Given the description of an element on the screen output the (x, y) to click on. 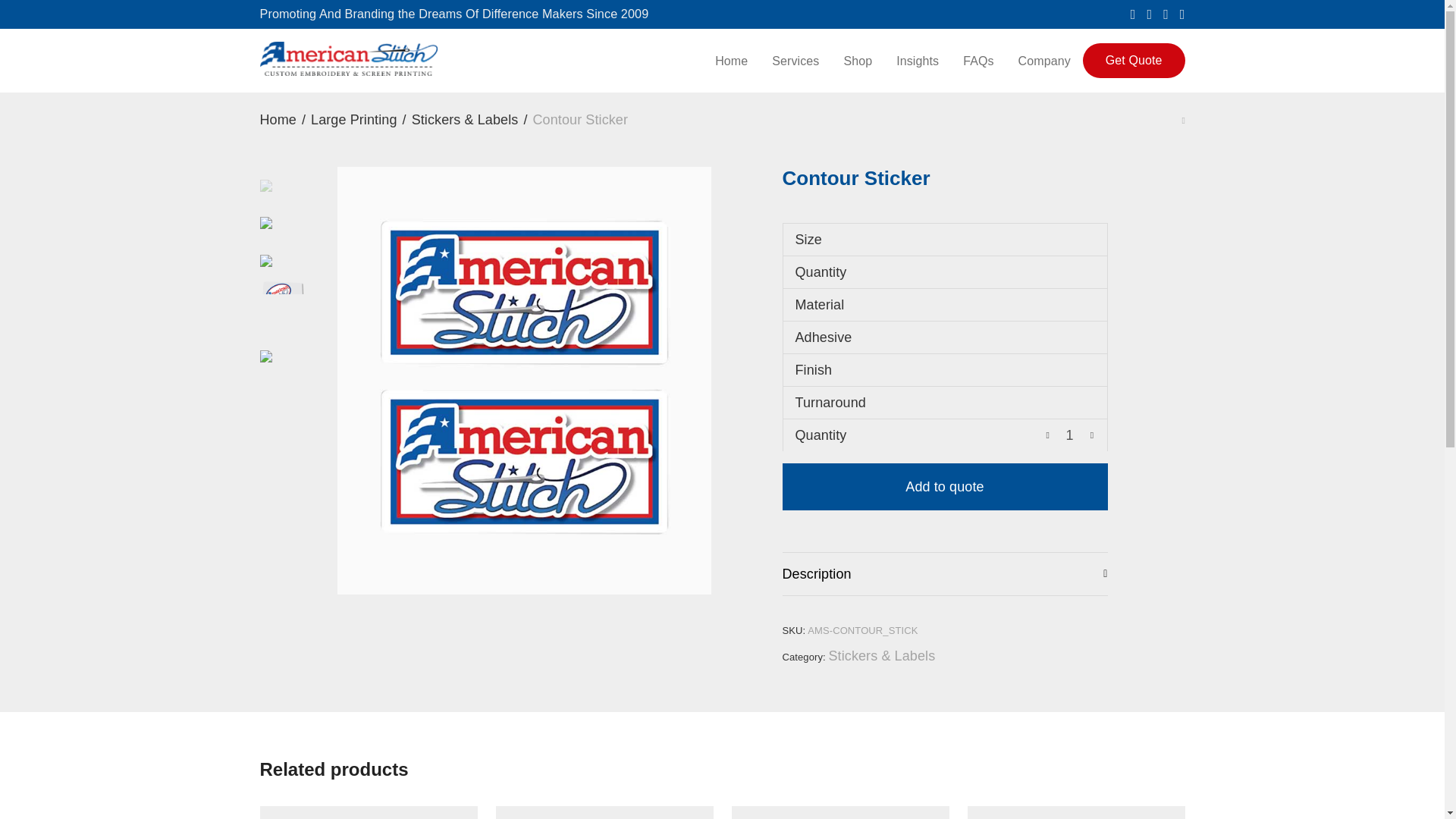
Shop (857, 61)
Home (277, 119)
Services (795, 61)
Large Printing (353, 119)
Add to quote (945, 486)
FAQs (978, 61)
Description (945, 573)
Insights (916, 61)
Company (1044, 61)
Home (731, 61)
